Given the description of an element on the screen output the (x, y) to click on. 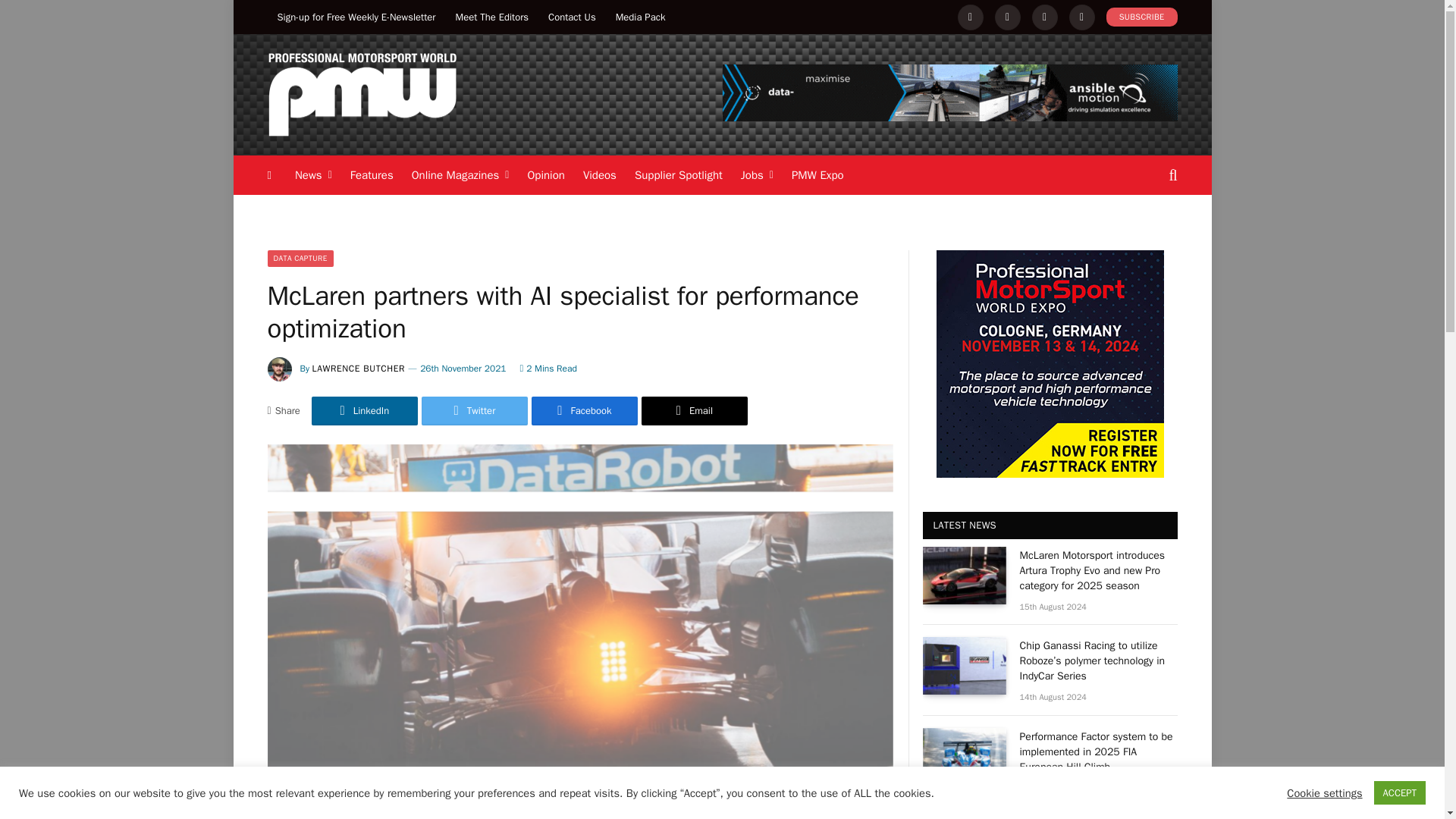
Posts by Lawrence Butcher (359, 368)
Share on Twitter (474, 410)
Share via Email (695, 410)
Share on Facebook (584, 410)
Share on LinkedIn (364, 410)
Professional Motorsport World (361, 95)
